Given the description of an element on the screen output the (x, y) to click on. 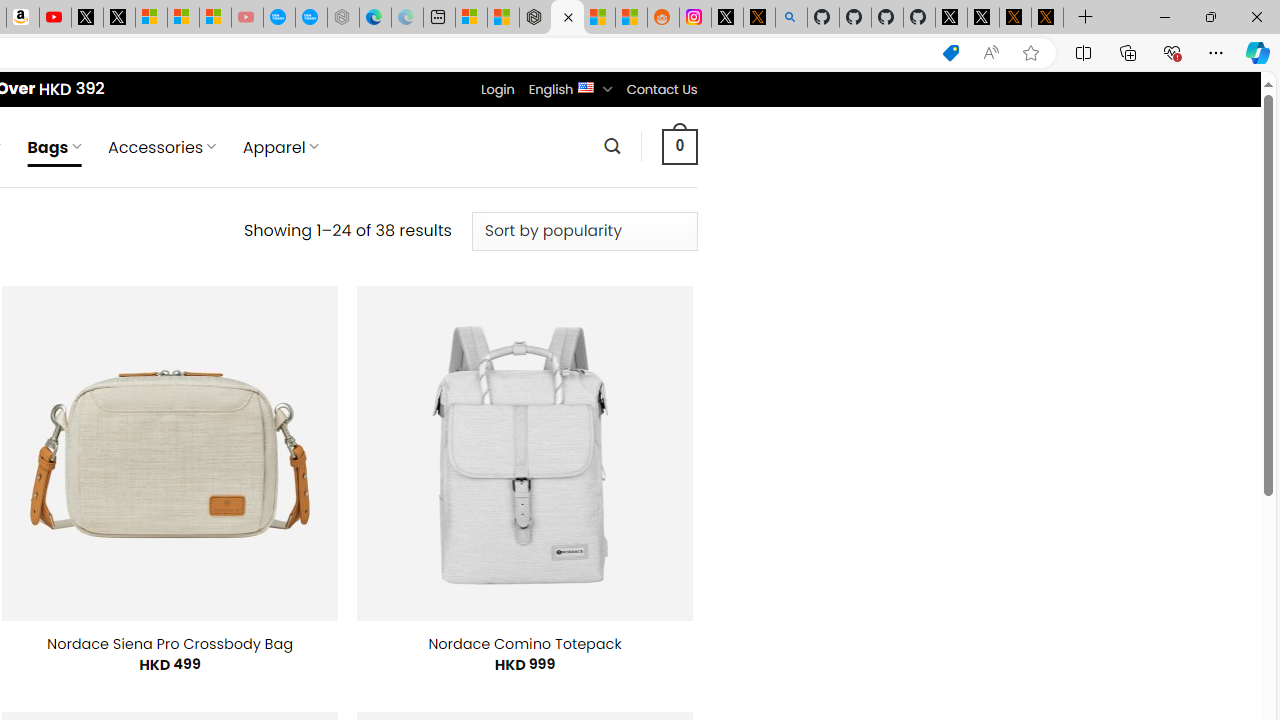
Nordace - Nordace has arrived Hong Kong - Sleeping (343, 17)
Opinion: Op-Ed and Commentary - USA TODAY (279, 17)
This site has coupons! Shopping in Microsoft Edge (950, 53)
help.x.com | 524: A timeout occurred (758, 17)
